Given the description of an element on the screen output the (x, y) to click on. 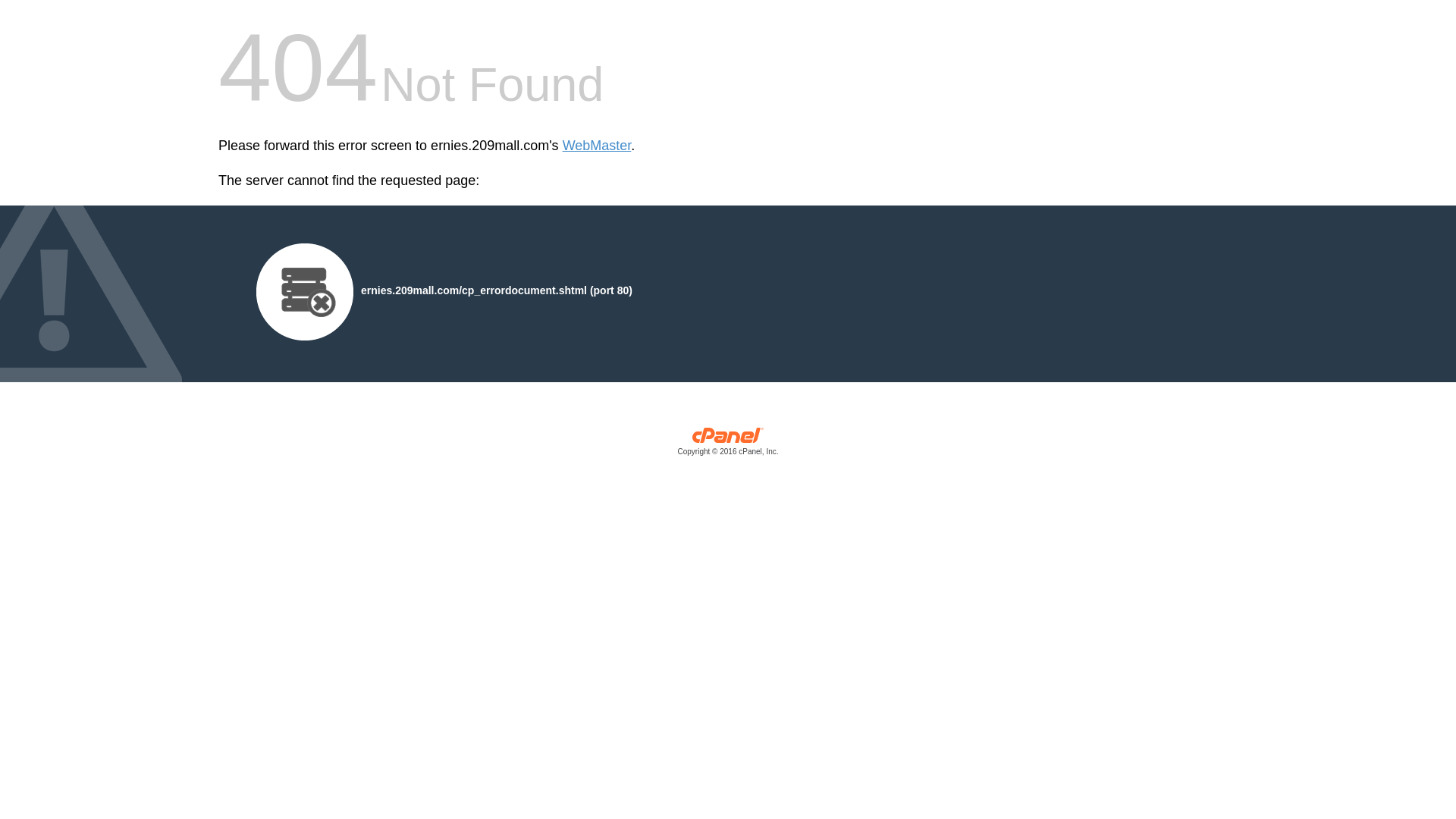
WebMaster Element type: text (596, 145)
